Given the description of an element on the screen output the (x, y) to click on. 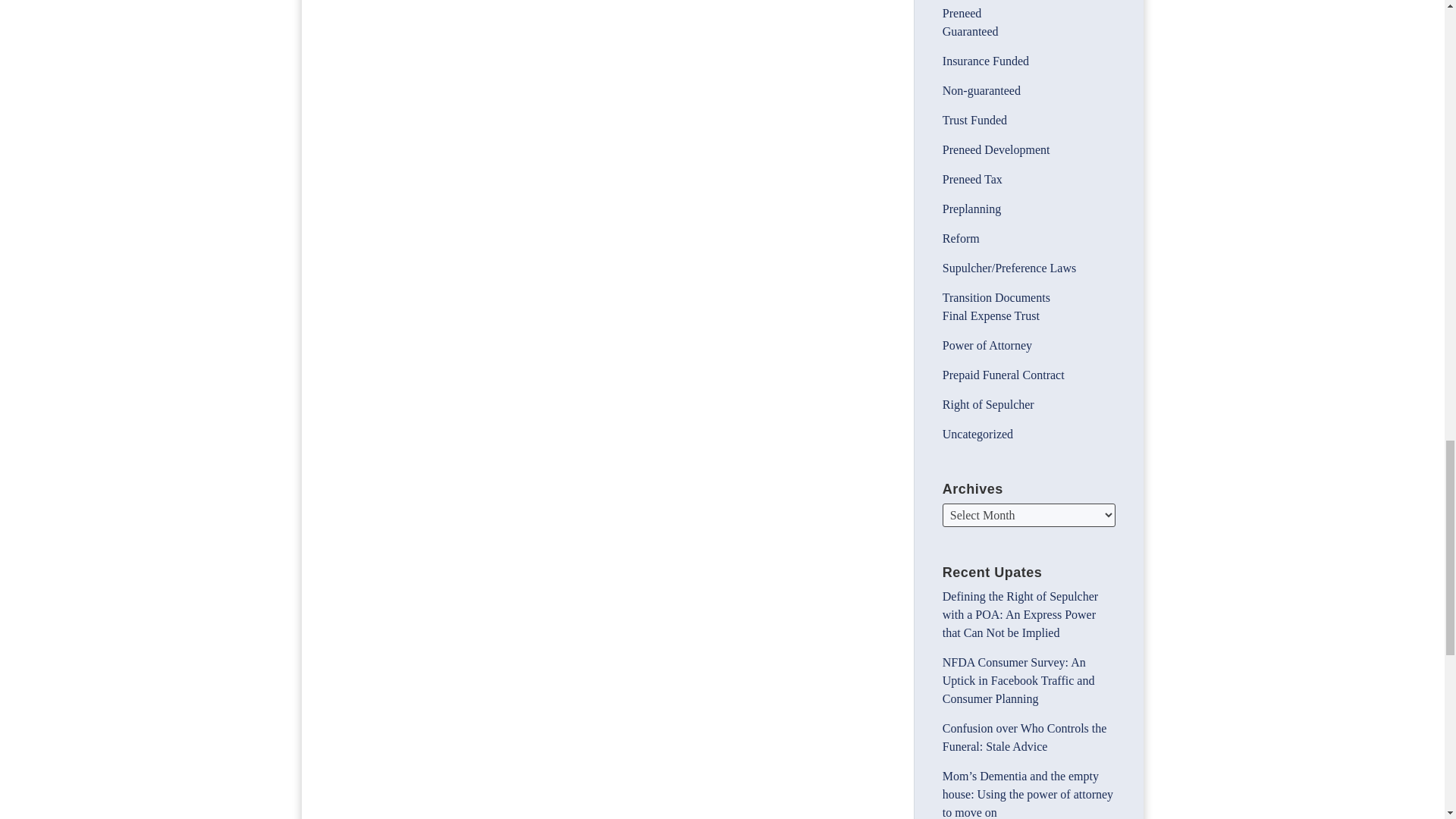
Email this post (379, 2)
Print: (362, 2)
